Given the description of an element on the screen output the (x, y) to click on. 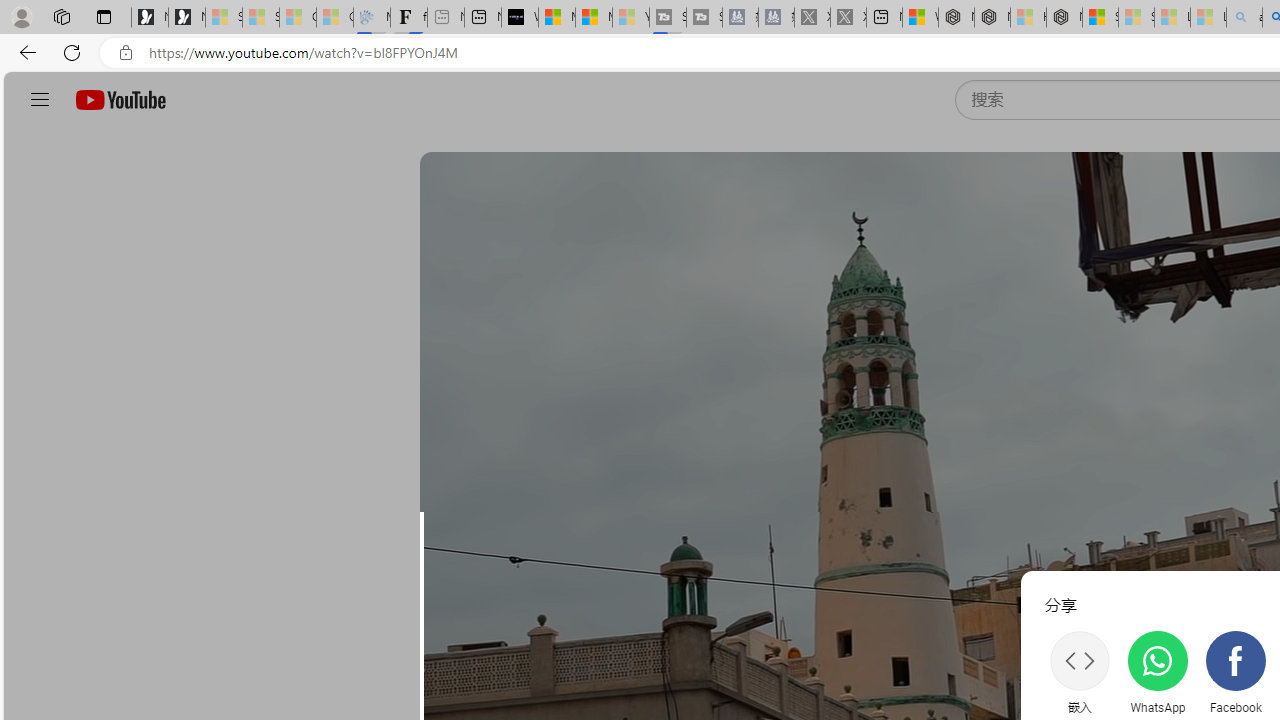
Streaming Coverage | T3 - Sleeping (668, 17)
WhatsApp (1157, 672)
